Given the description of an element on the screen output the (x, y) to click on. 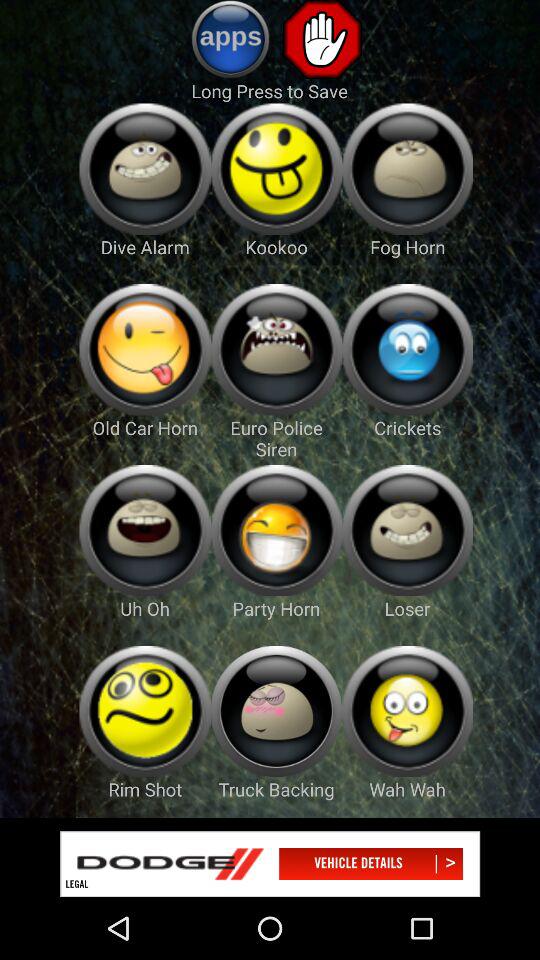
apps button (230, 39)
